Given the description of an element on the screen output the (x, y) to click on. 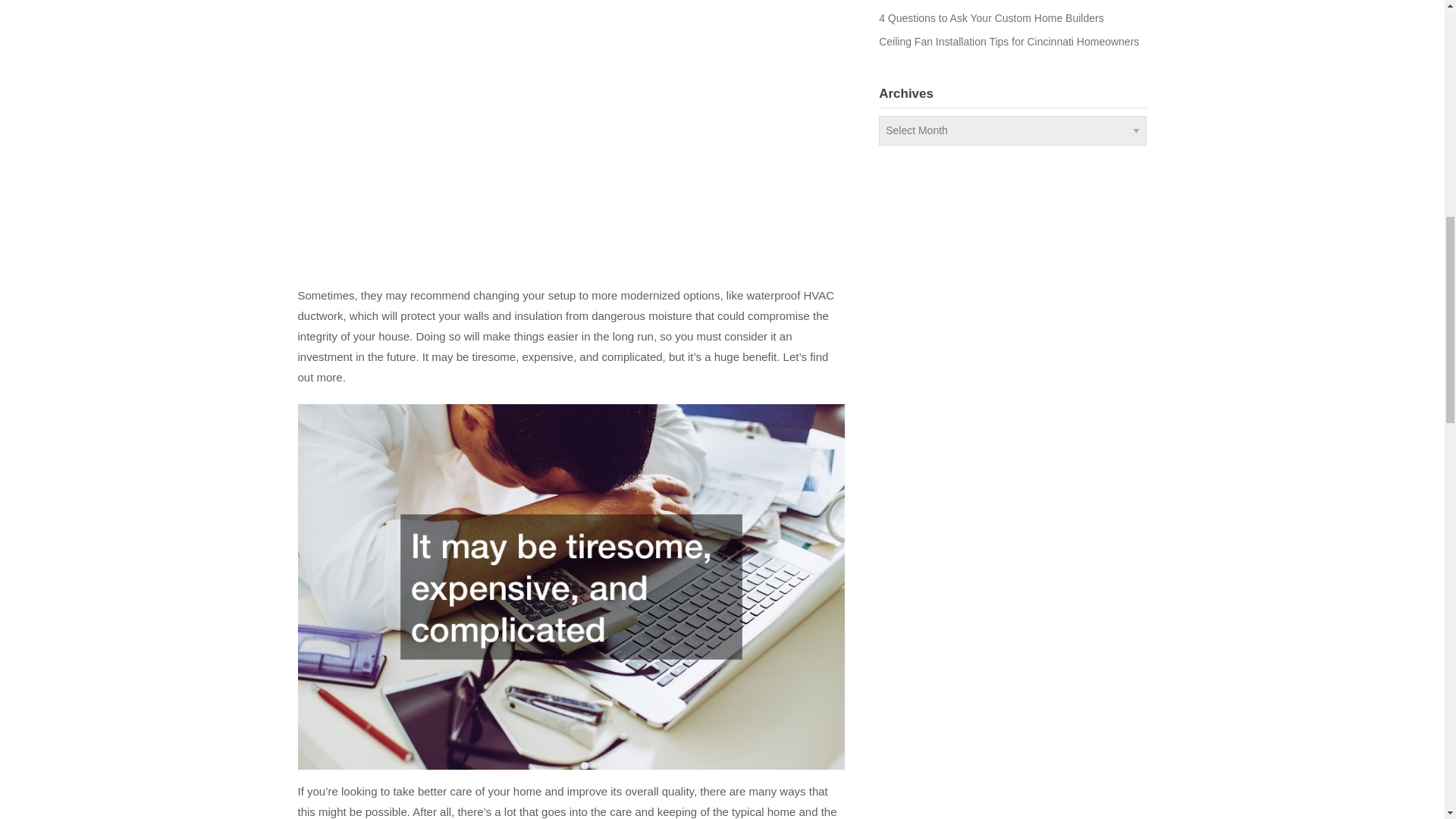
Ceiling Fan Installation Tips for Cincinnati Homeowners (1008, 41)
4 Questions to Ask Your Custom Home Builders (991, 18)
3 HVAC Ductwork ISSUES Homeowners NEED To Know! (540, 133)
